Given the description of an element on the screen output the (x, y) to click on. 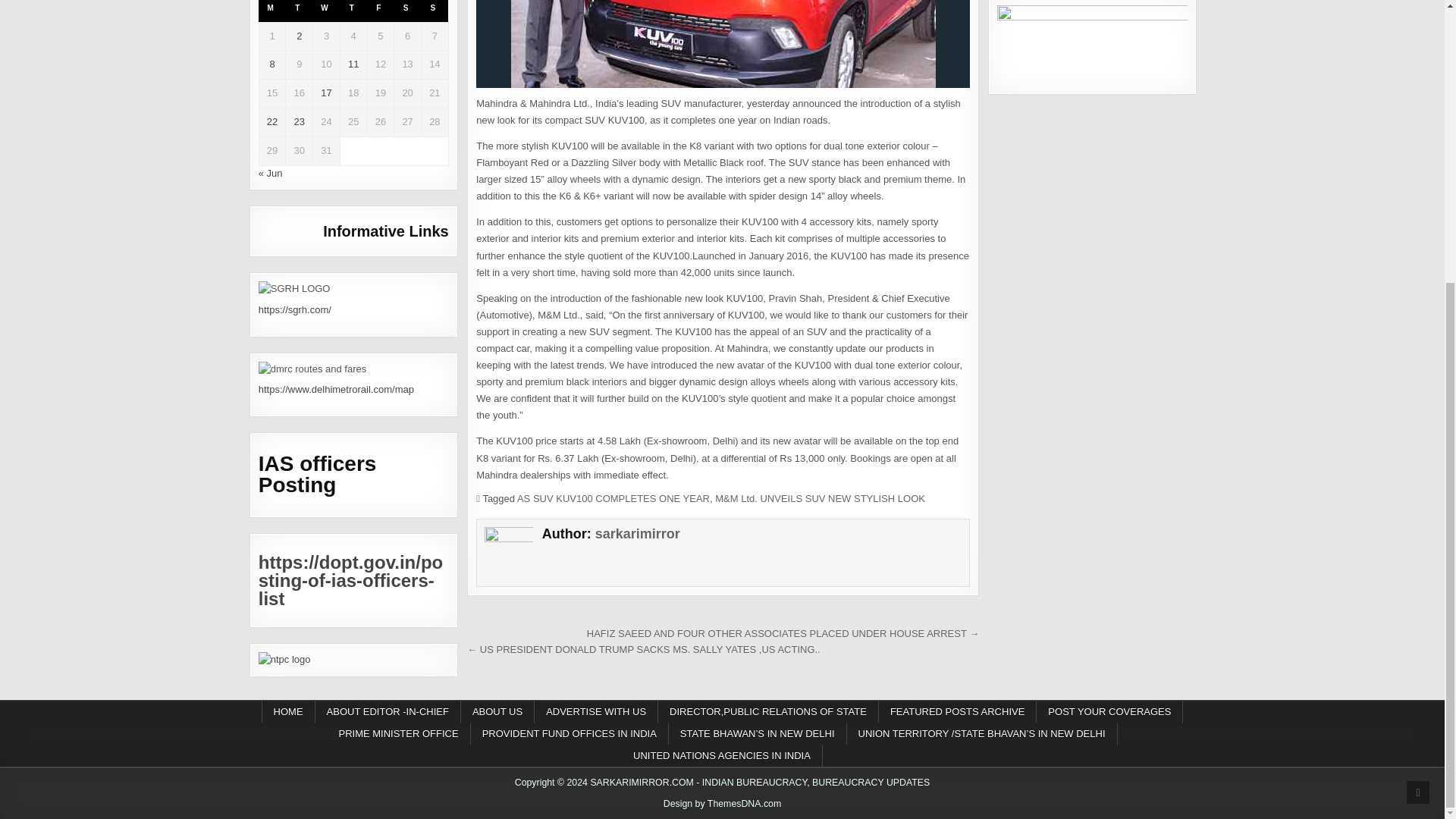
Tuesday (299, 11)
2 (299, 35)
Scroll to Top (1417, 368)
Wednesday (326, 11)
AS SUV KUV100 COMPLETES ONE YEAR (613, 498)
Monday (272, 11)
sarkarimirror (637, 533)
Thursday (352, 11)
